Given the description of an element on the screen output the (x, y) to click on. 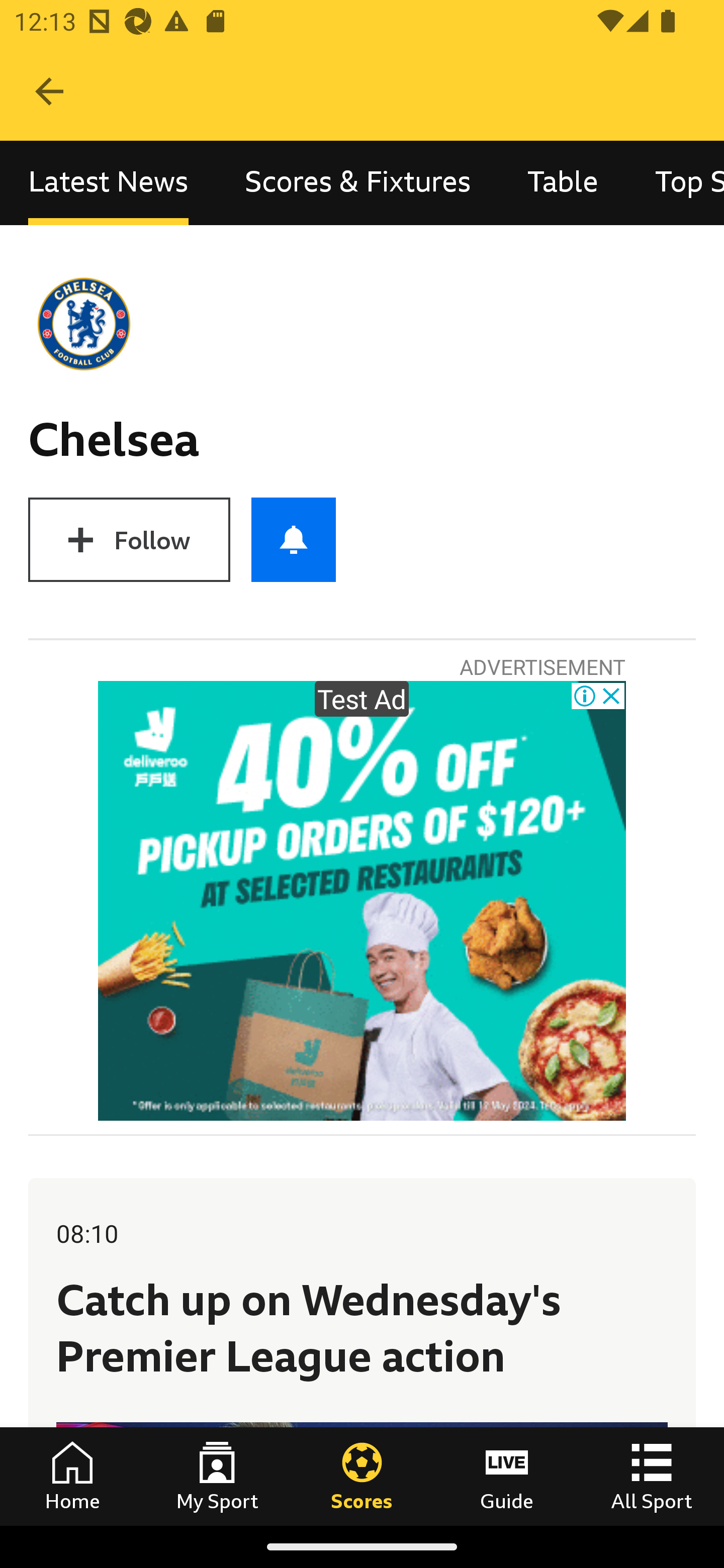
Navigate up (49, 91)
Latest News, selected Latest News (108, 183)
Scores & Fixtures (357, 183)
Table (562, 183)
Follow Chelsea Follow (129, 539)
Push notifications for Chelsea (293, 539)
Advertisement (361, 900)
Home (72, 1475)
My Sport (216, 1475)
Guide (506, 1475)
All Sport (651, 1475)
